Given the description of an element on the screen output the (x, y) to click on. 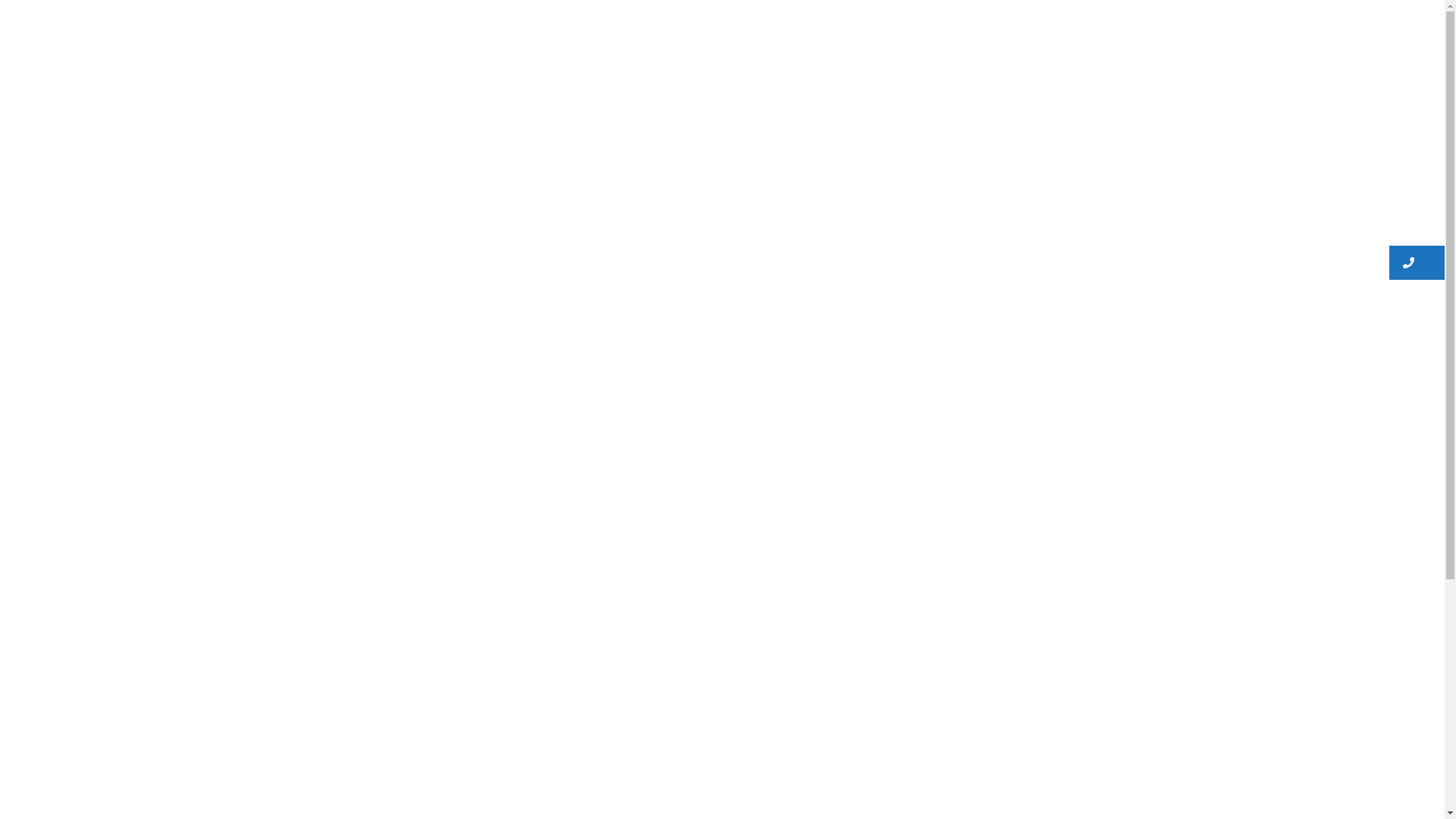
  Element type: text (1416, 262)
